Given the description of an element on the screen output the (x, y) to click on. 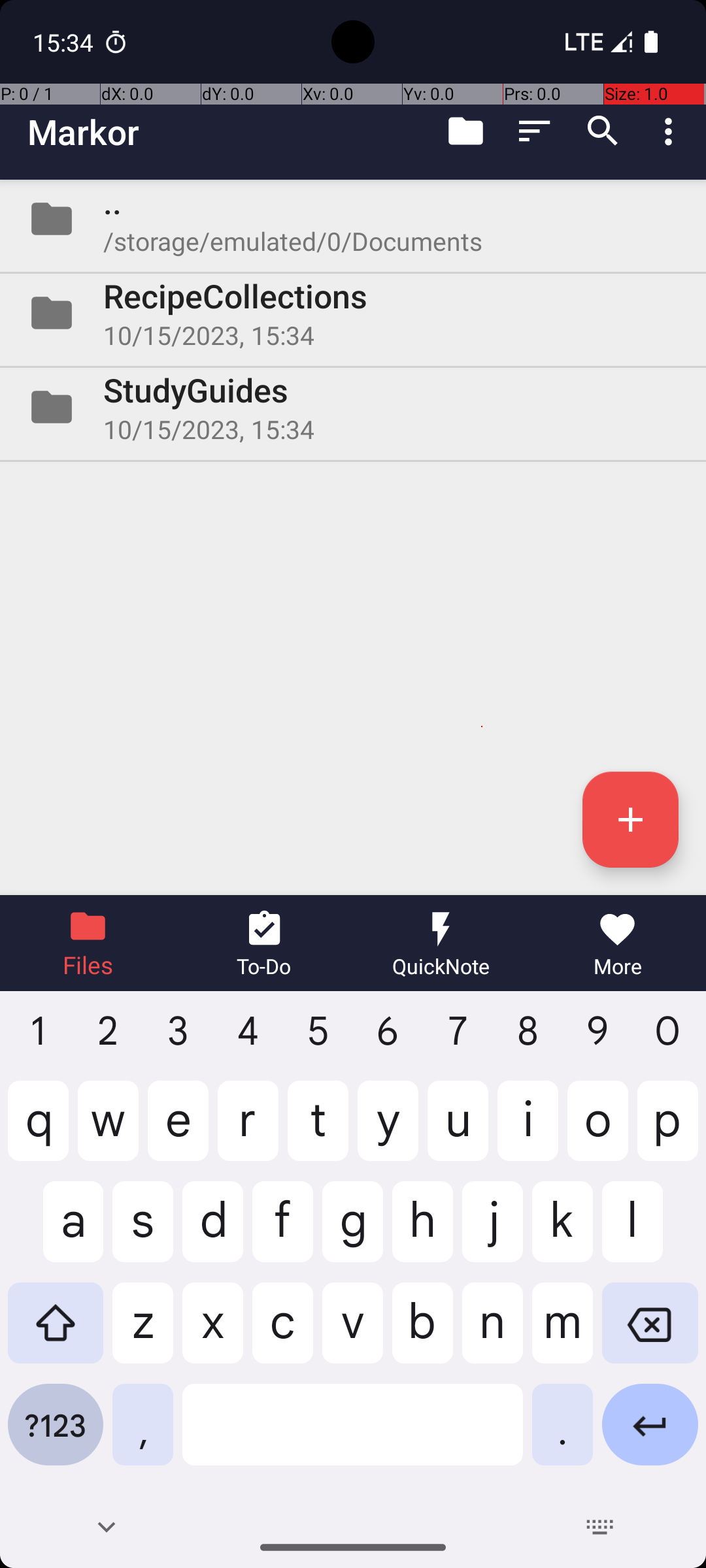
Folder RecipeCollections  Element type: android.widget.LinearLayout (353, 312)
Folder StudyGuides  Element type: android.widget.LinearLayout (353, 406)
